Given the description of an element on the screen output the (x, y) to click on. 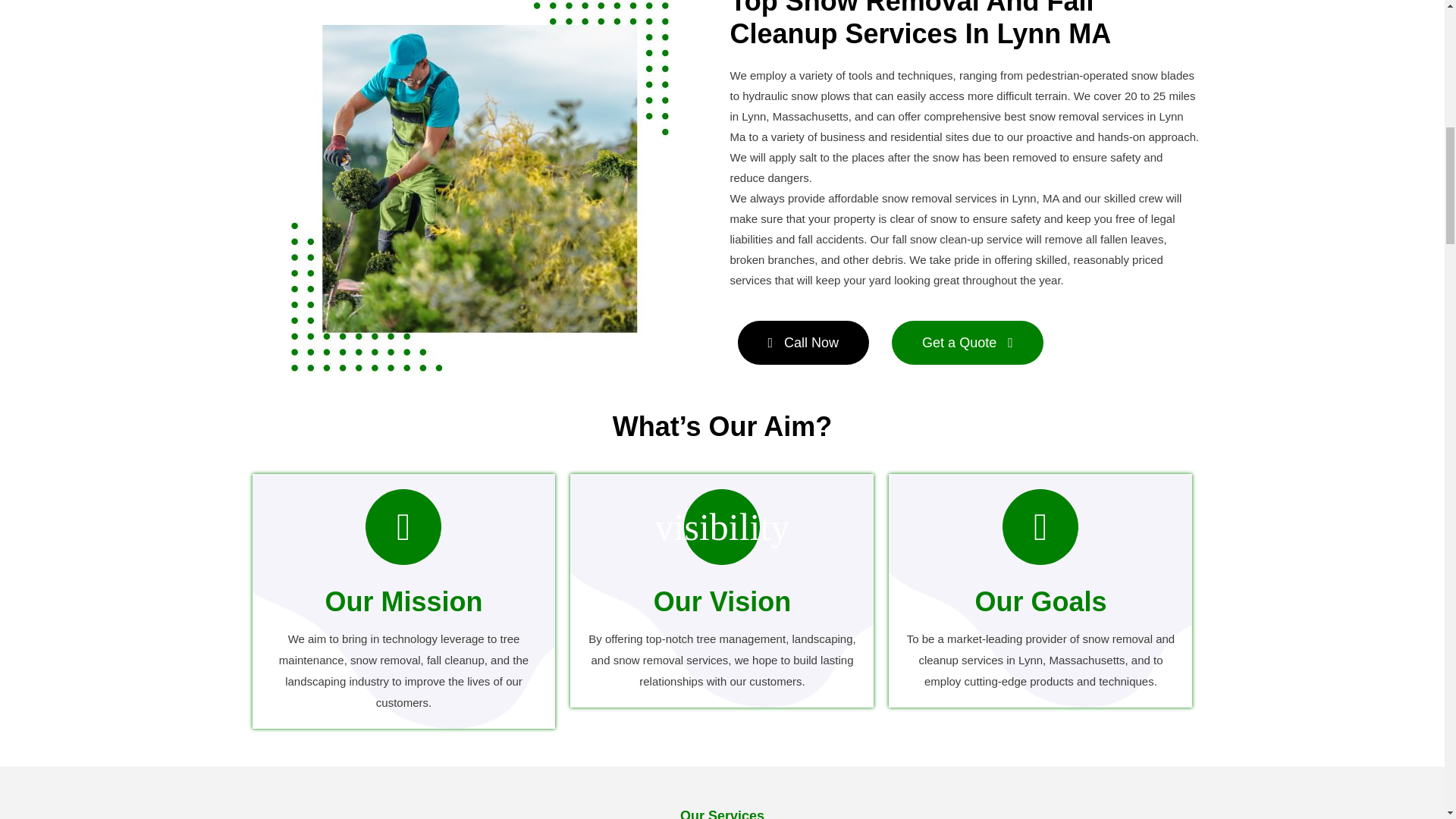
Get a Quote (967, 342)
Call Now (802, 342)
